Given the description of an element on the screen output the (x, y) to click on. 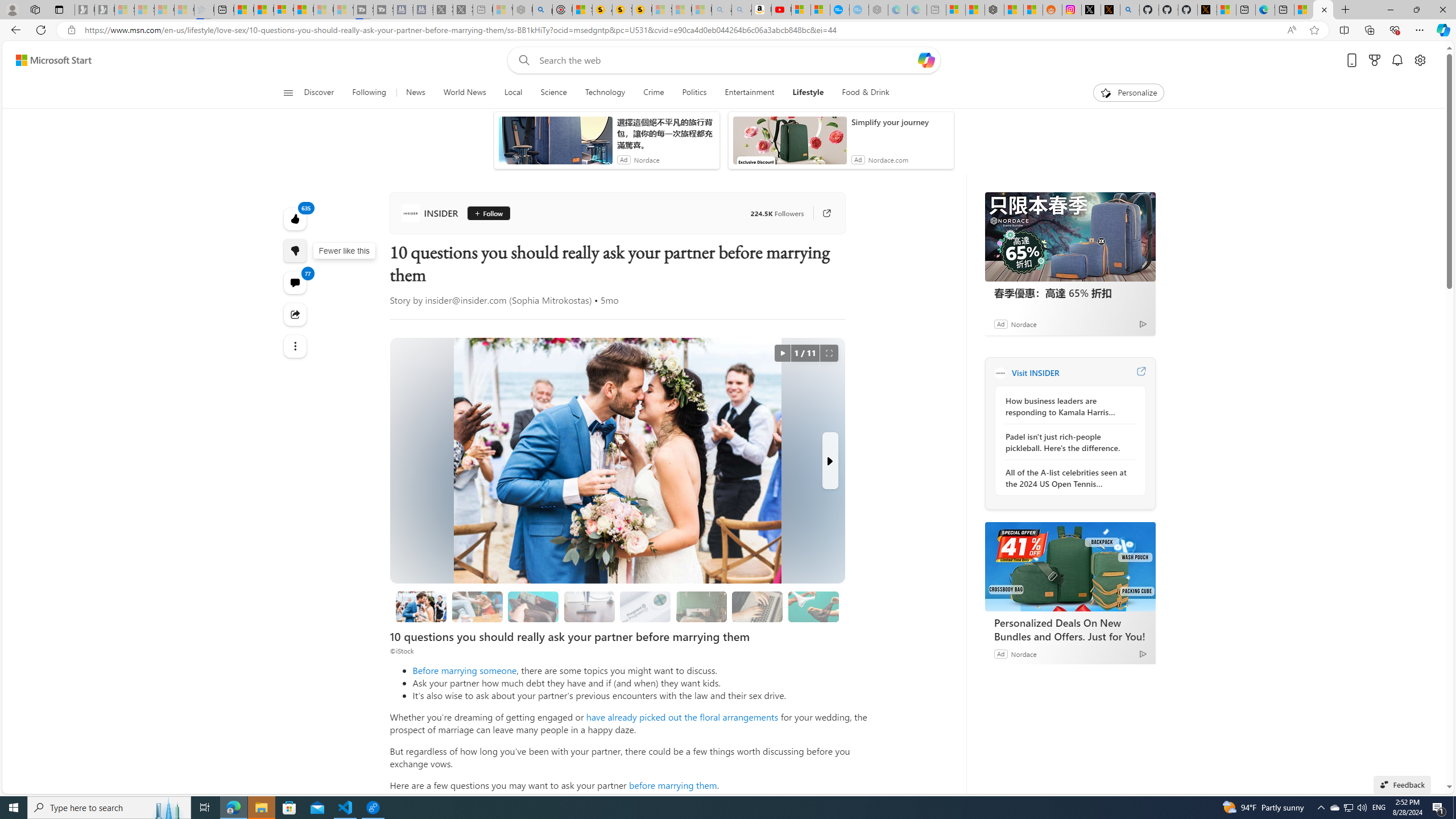
Technology (605, 92)
Crime (653, 92)
Restore (1416, 9)
Share this story (295, 314)
Wildlife - MSN - Sleeping (501, 9)
Browser essentials (1394, 29)
Tab actions menu (58, 9)
Following (370, 92)
Shades of green get dated too quickly. (701, 606)
More like this635Fewer like thisFewer like thisView comments (295, 250)
